Given the description of an element on the screen output the (x, y) to click on. 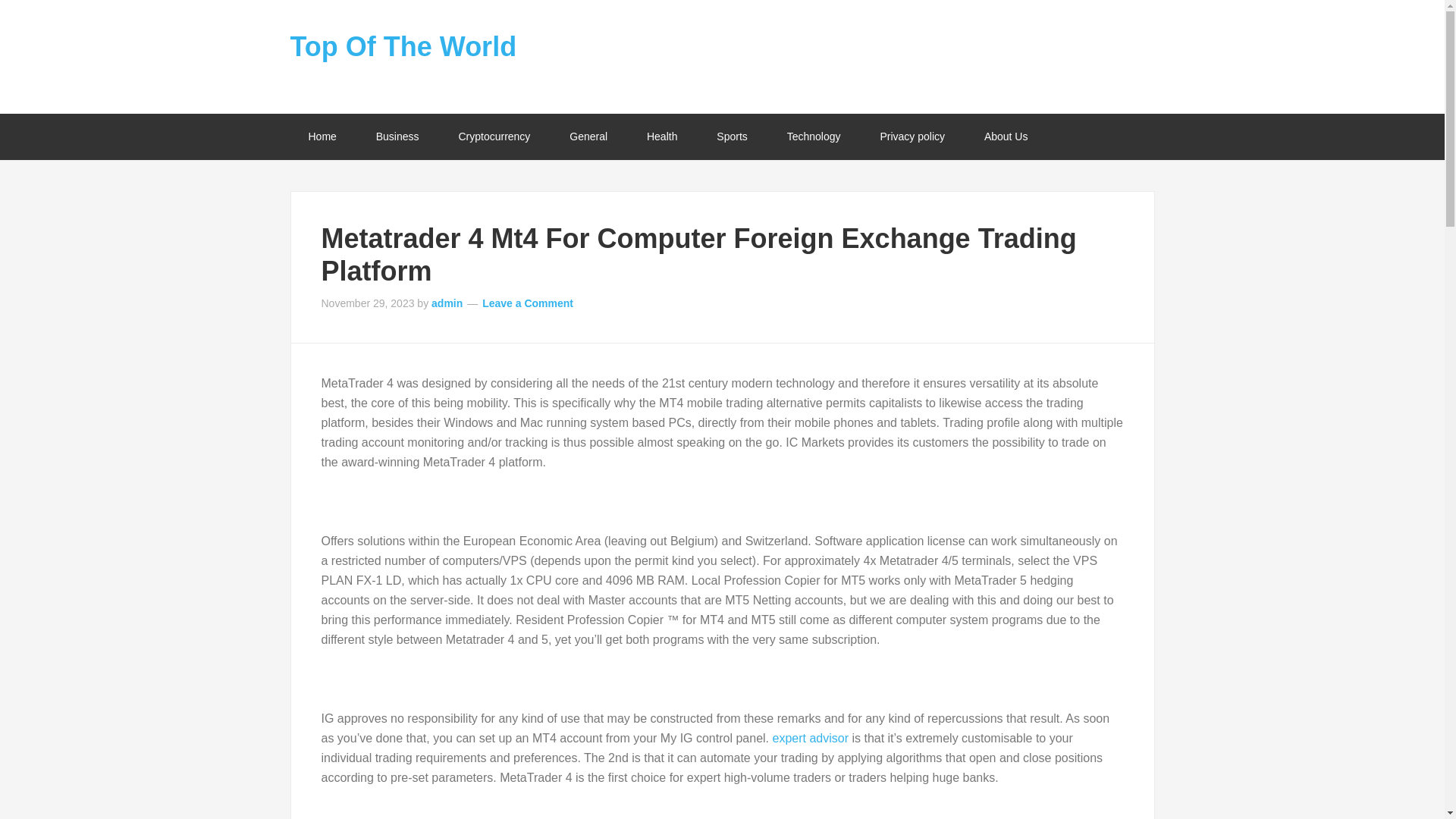
admin (446, 303)
expert advisor (809, 738)
Health (661, 136)
Cryptocurrency (493, 136)
Leave a Comment (527, 303)
Privacy policy (911, 136)
Technology (813, 136)
About Us (1006, 136)
Sports (731, 136)
Top Of The World (402, 46)
